Given the description of an element on the screen output the (x, y) to click on. 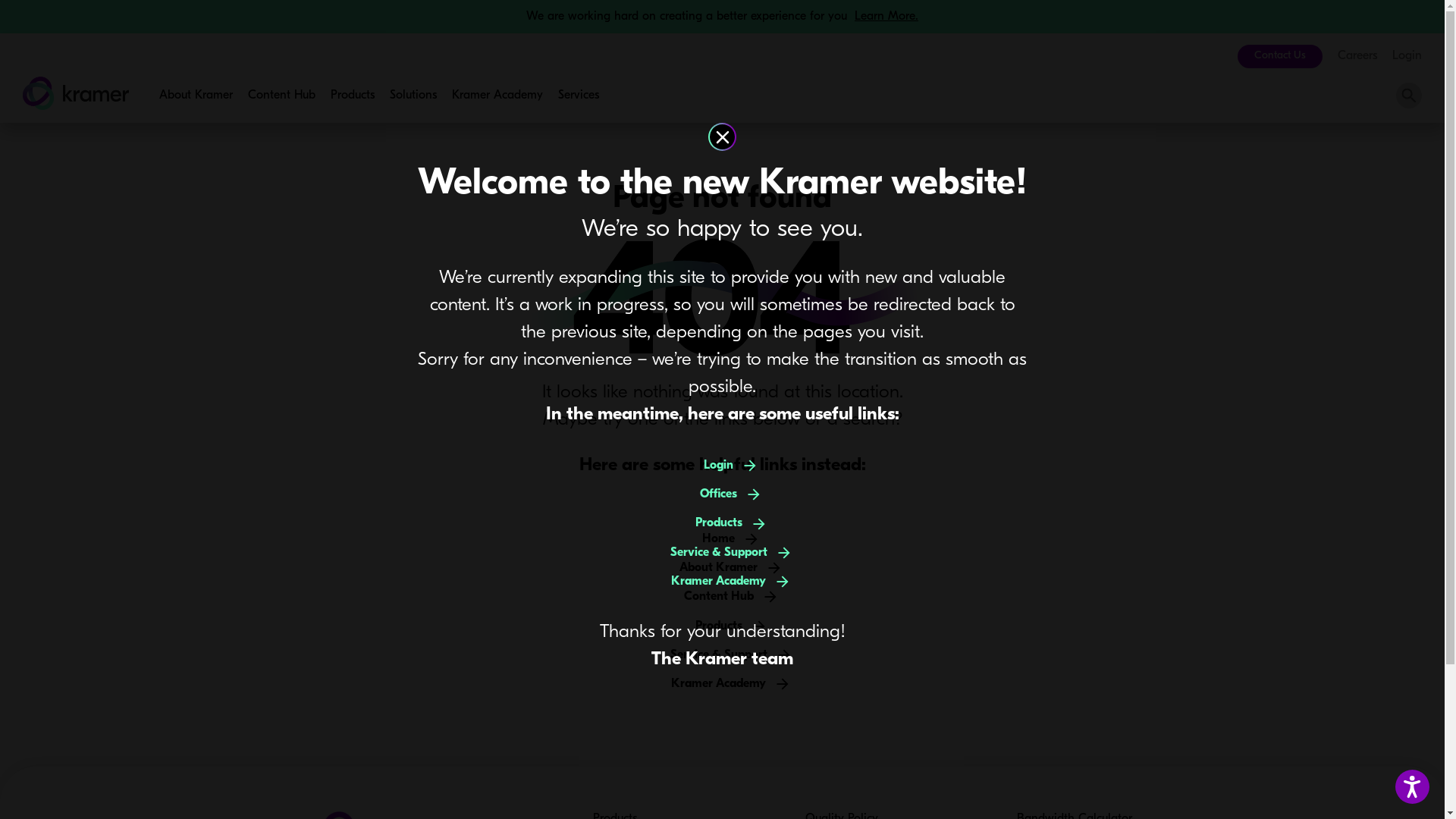
Products
New Window Element type: text (352, 95)
Content Hub Element type: text (722, 596)
Home Element type: text (722, 538)
Login Element type: text (1406, 56)
Service & Support
New Window Element type: text (722, 552)
Content Hub Element type: text (281, 95)
Kramer Academy
New Window Element type: text (721, 683)
Offices
New Window Element type: text (721, 494)
Contact Us Element type: text (1279, 56)
Solutions Element type: text (412, 95)
Learn More.
Open Announcement Modal Element type: text (886, 16)
Kramer Academy
New Window Element type: text (496, 95)
Products
New Window Element type: text (721, 522)
About Kramer Element type: text (722, 567)
Service & Support
New Window Element type: text (722, 654)
Careers Element type: text (1357, 56)
Login
New Window Element type: text (722, 465)
Products
New Window Element type: text (721, 625)
Kramer Academy
New Window Element type: text (721, 581)
Services
New Window Element type: text (578, 95)
About Kramer Element type: text (195, 95)
